Given the description of an element on the screen output the (x, y) to click on. 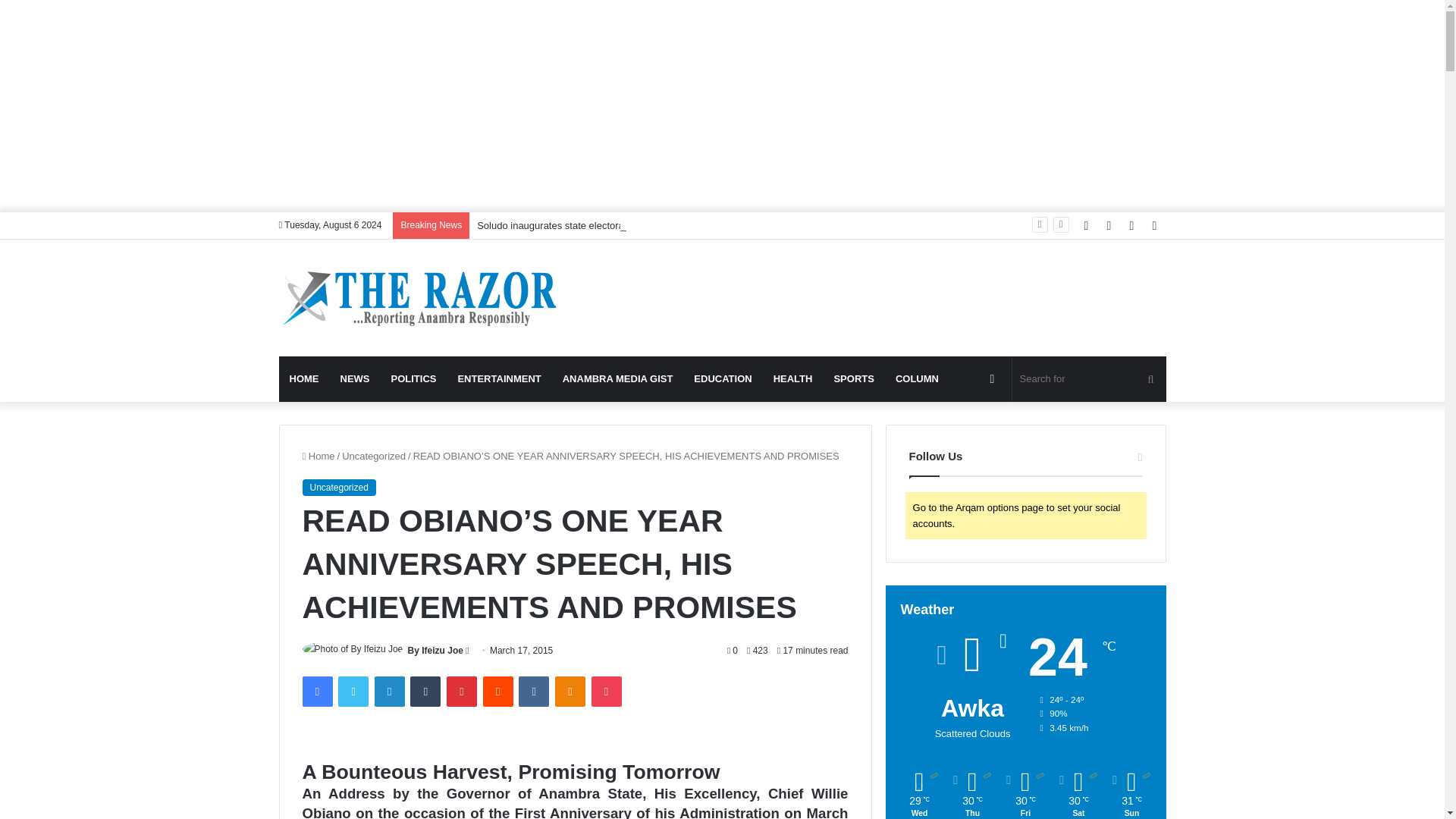
Pinterest (461, 691)
By Ifeizu Joe (435, 650)
The Razor News (419, 297)
Pocket (606, 691)
Twitter (352, 691)
NEWS (354, 379)
SPORTS (852, 379)
Odnoklassniki (569, 691)
Odnoklassniki (569, 691)
